Given the description of an element on the screen output the (x, y) to click on. 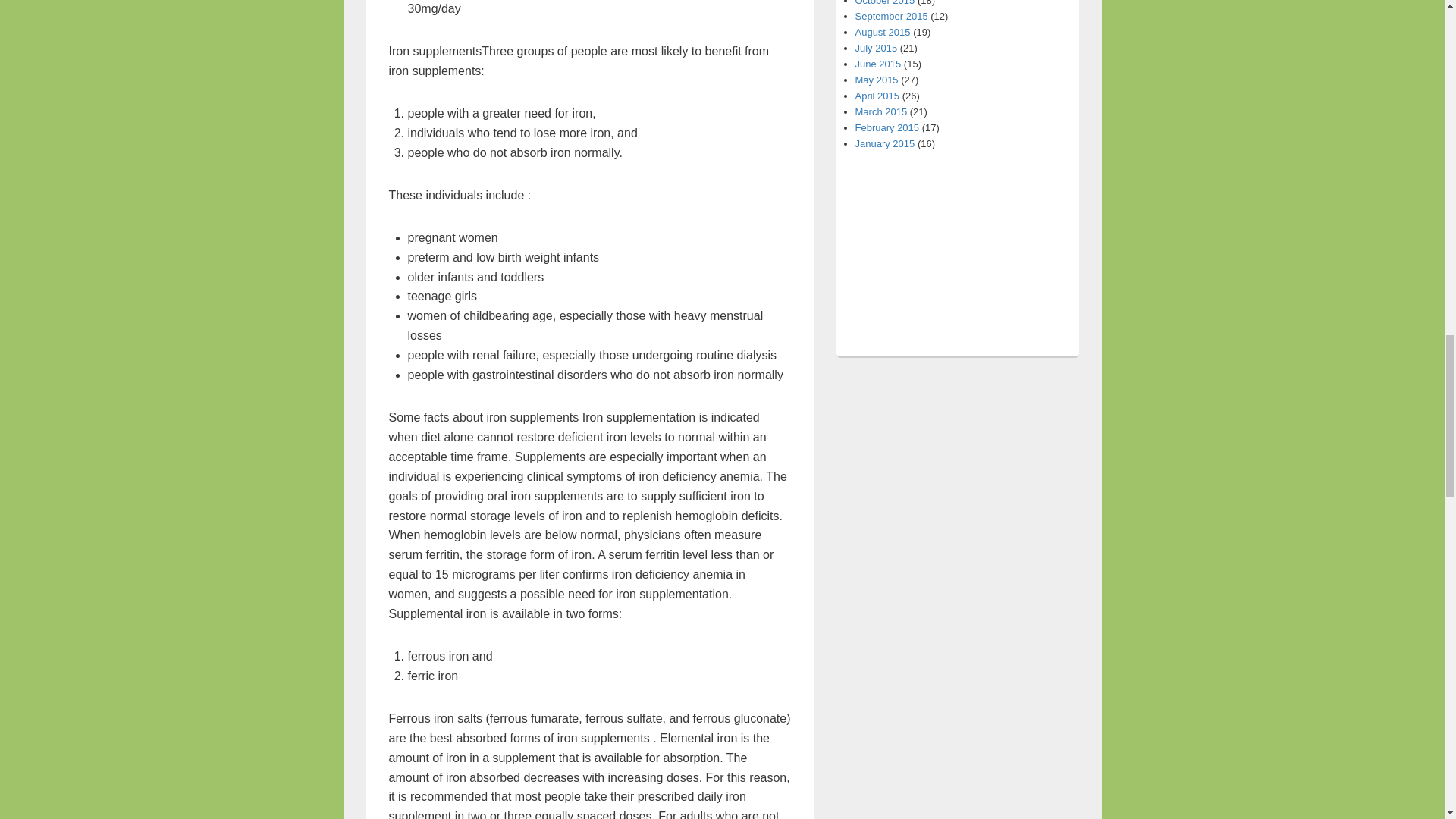
Advertisement (956, 249)
Advertisement (956, 475)
